Given the description of an element on the screen output the (x, y) to click on. 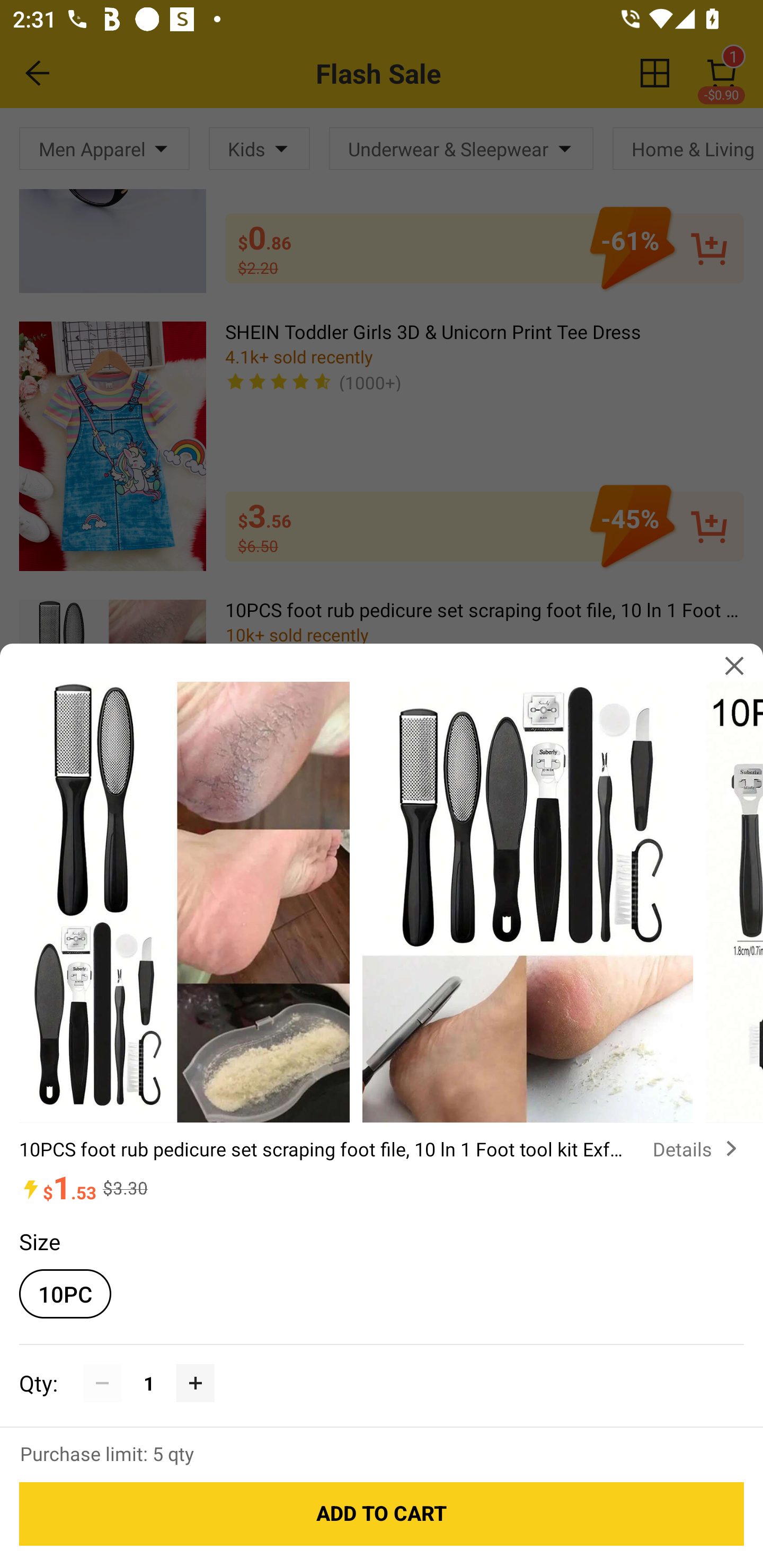
Details (698, 1148)
Size (39, 1240)
10PC 10PCselected option (65, 1293)
ADD TO CART (381, 1513)
